Given the description of an element on the screen output the (x, y) to click on. 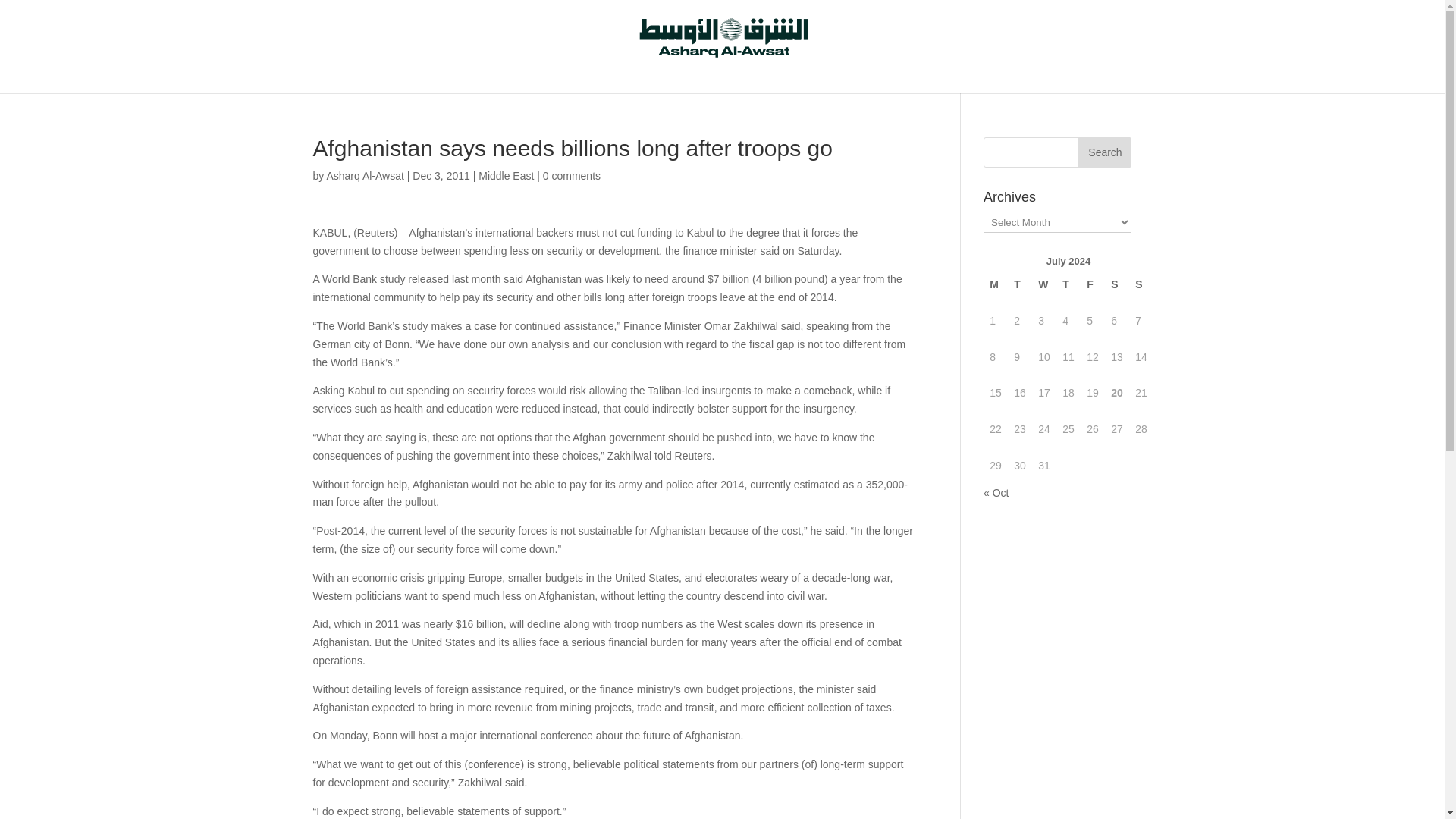
Asharq Al-Awsat (364, 175)
Search (1104, 152)
0 comments (571, 175)
Posts by Asharq Al-Awsat (364, 175)
Middle East (506, 175)
Search (1104, 152)
